Given the description of an element on the screen output the (x, y) to click on. 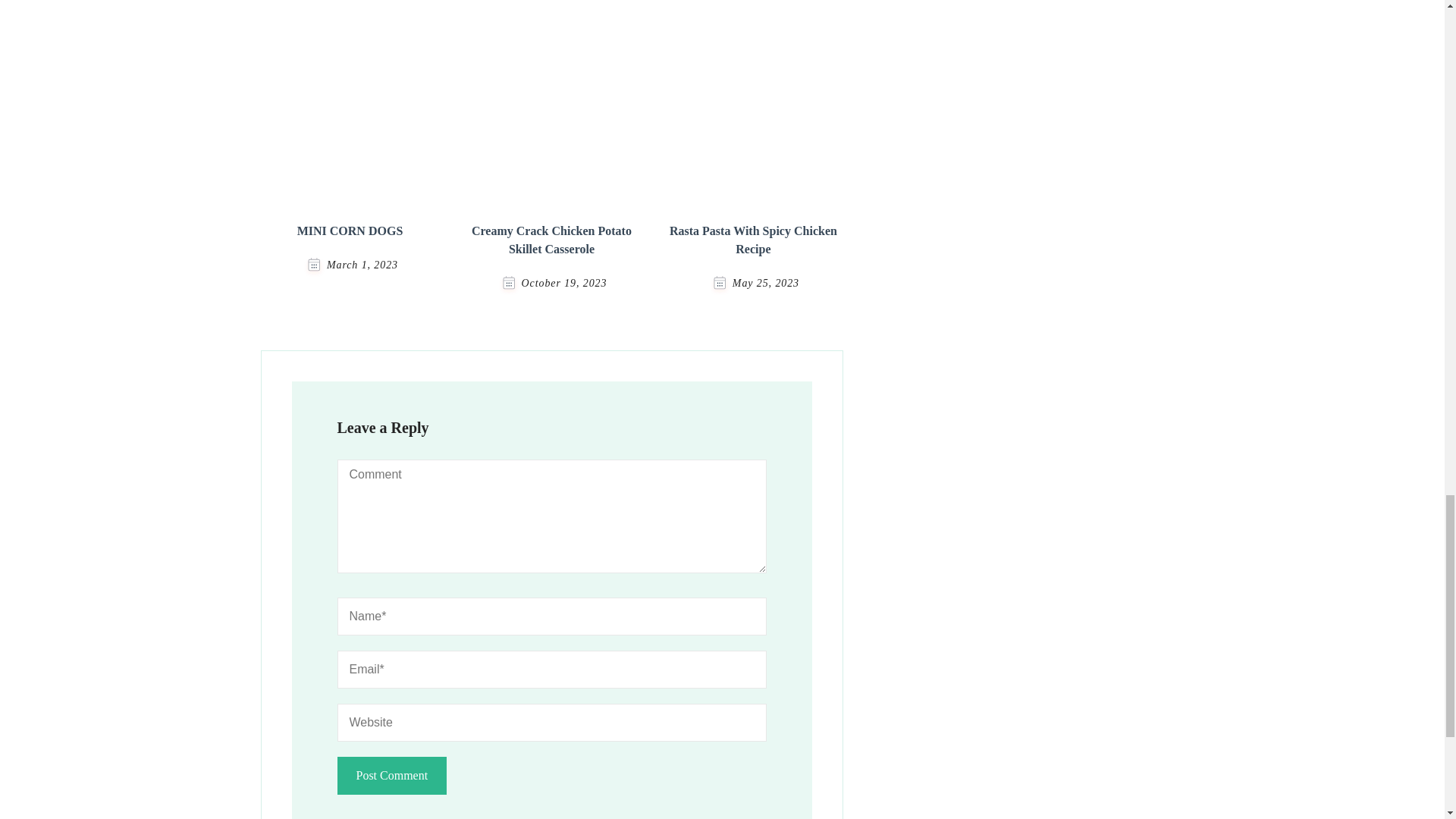
Post Comment (391, 775)
